Given the description of an element on the screen output the (x, y) to click on. 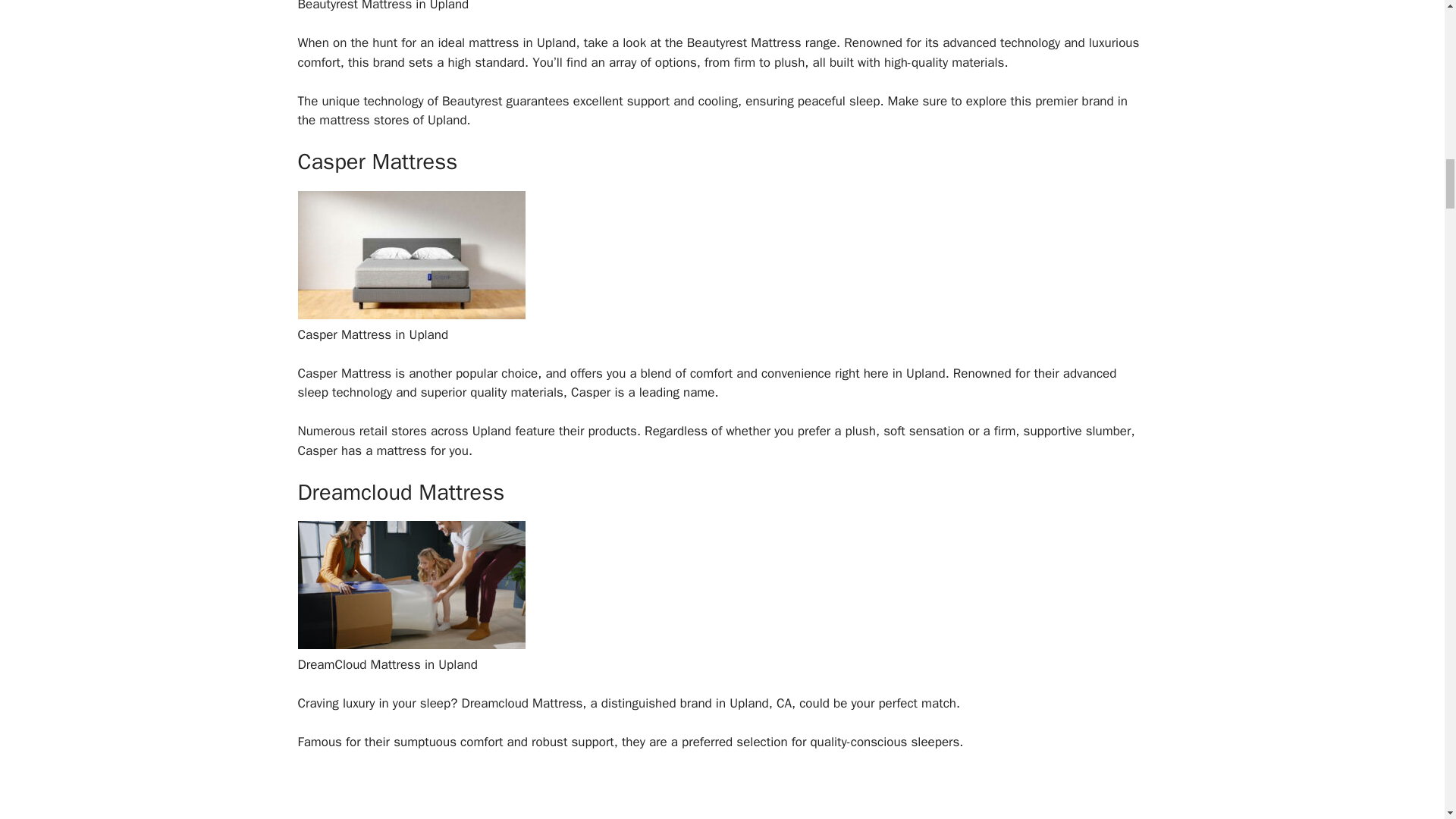
Casper Mattress Upland (410, 314)
DreamCloud Mattress Near Me in Upland (410, 644)
